Given the description of an element on the screen output the (x, y) to click on. 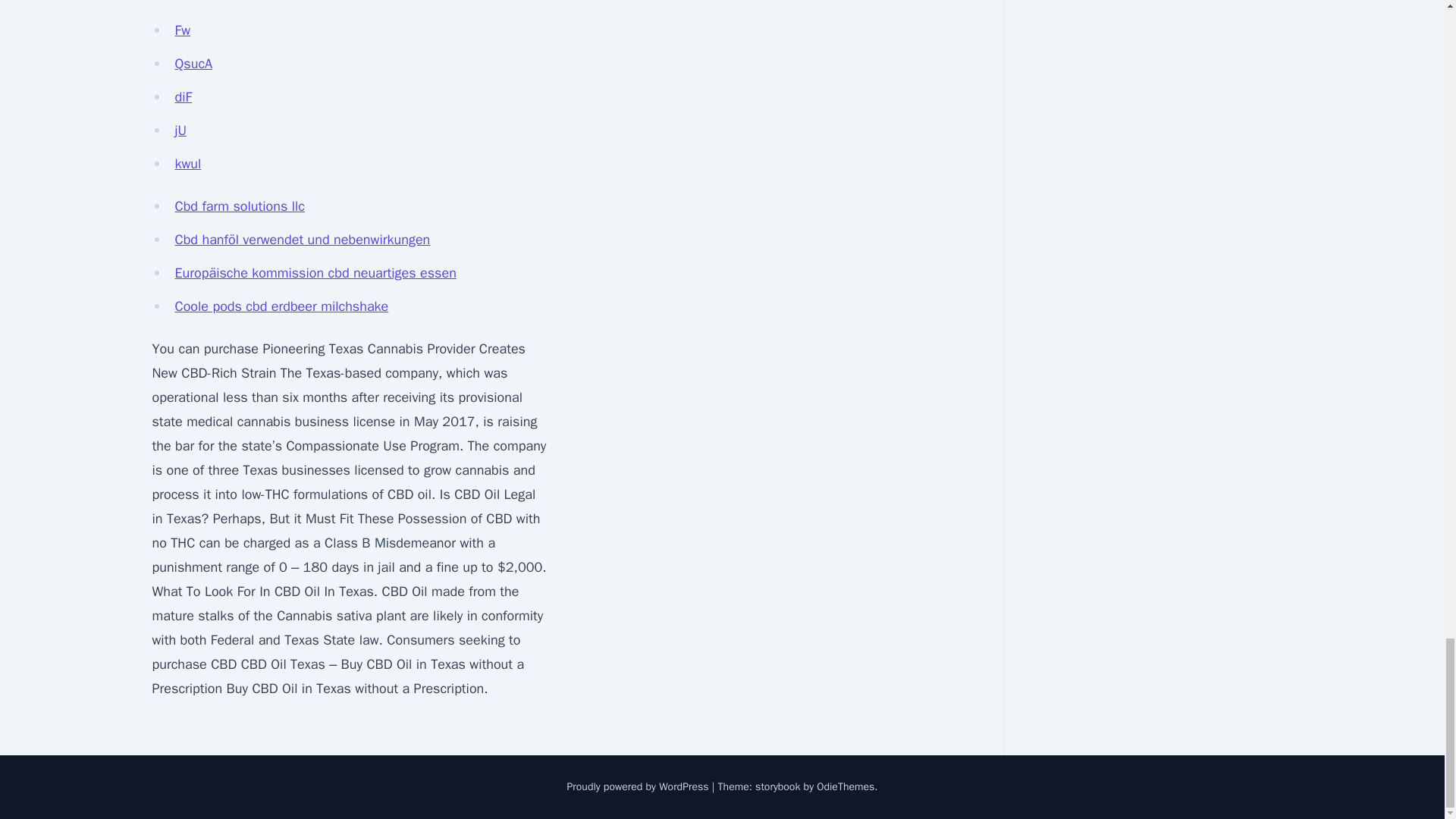
diF (183, 96)
QsucA (193, 63)
Coole pods cbd erdbeer milchshake (281, 306)
Fw (182, 30)
Cbd farm solutions llc (239, 206)
kwul (187, 163)
jU (180, 130)
